Given the description of an element on the screen output the (x, y) to click on. 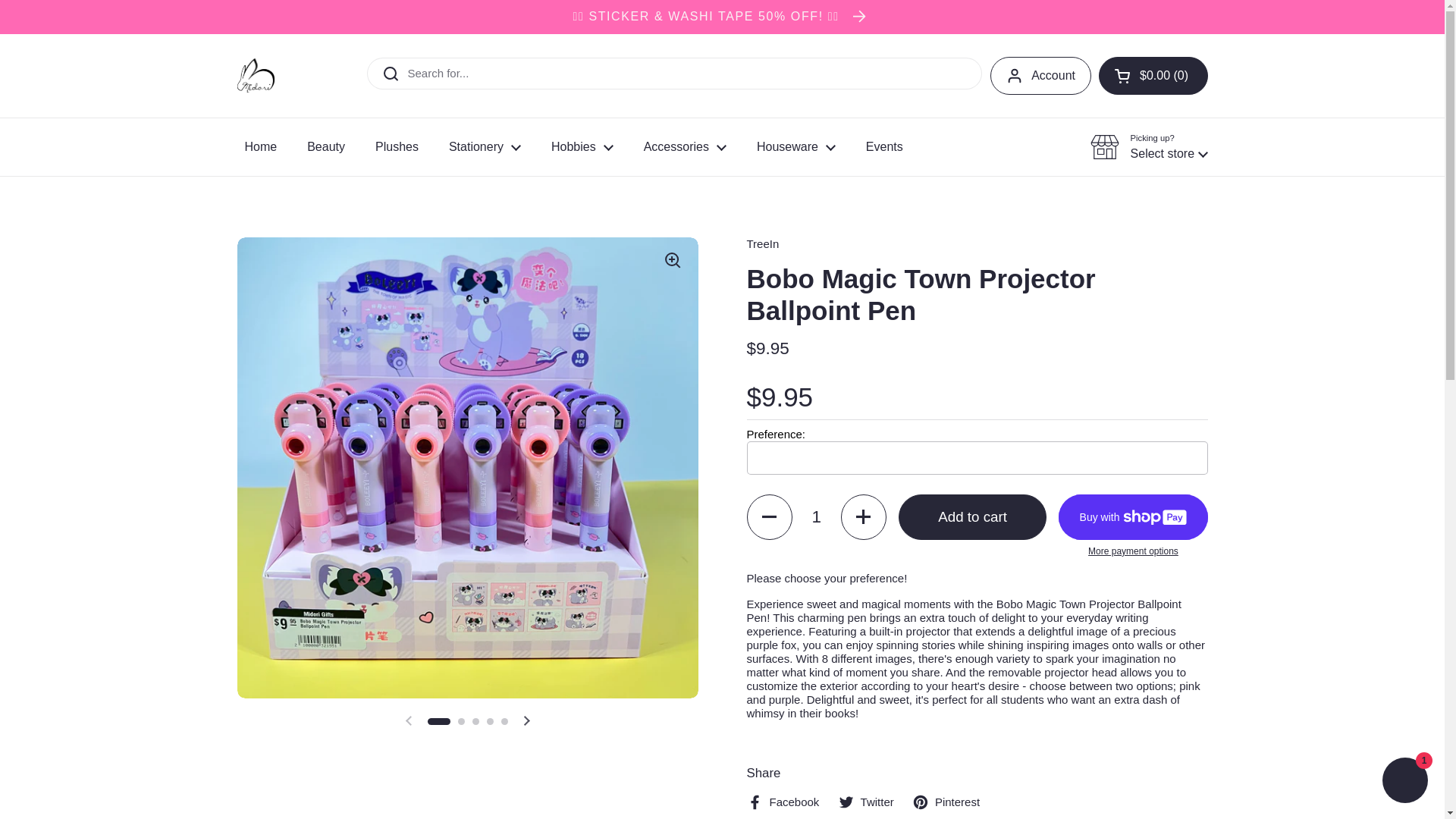
Open cart (1153, 75)
Account (1040, 75)
Share on pinterest (945, 801)
Plushes (396, 146)
Shopify online store chat (1404, 781)
Beauty (325, 146)
Hobbies (581, 146)
Midori Gifts (255, 75)
Share on twitter (865, 801)
1 (816, 516)
Share on facebook (781, 801)
Accessories (684, 146)
Stationery (484, 146)
Home (260, 146)
